Given the description of an element on the screen output the (x, y) to click on. 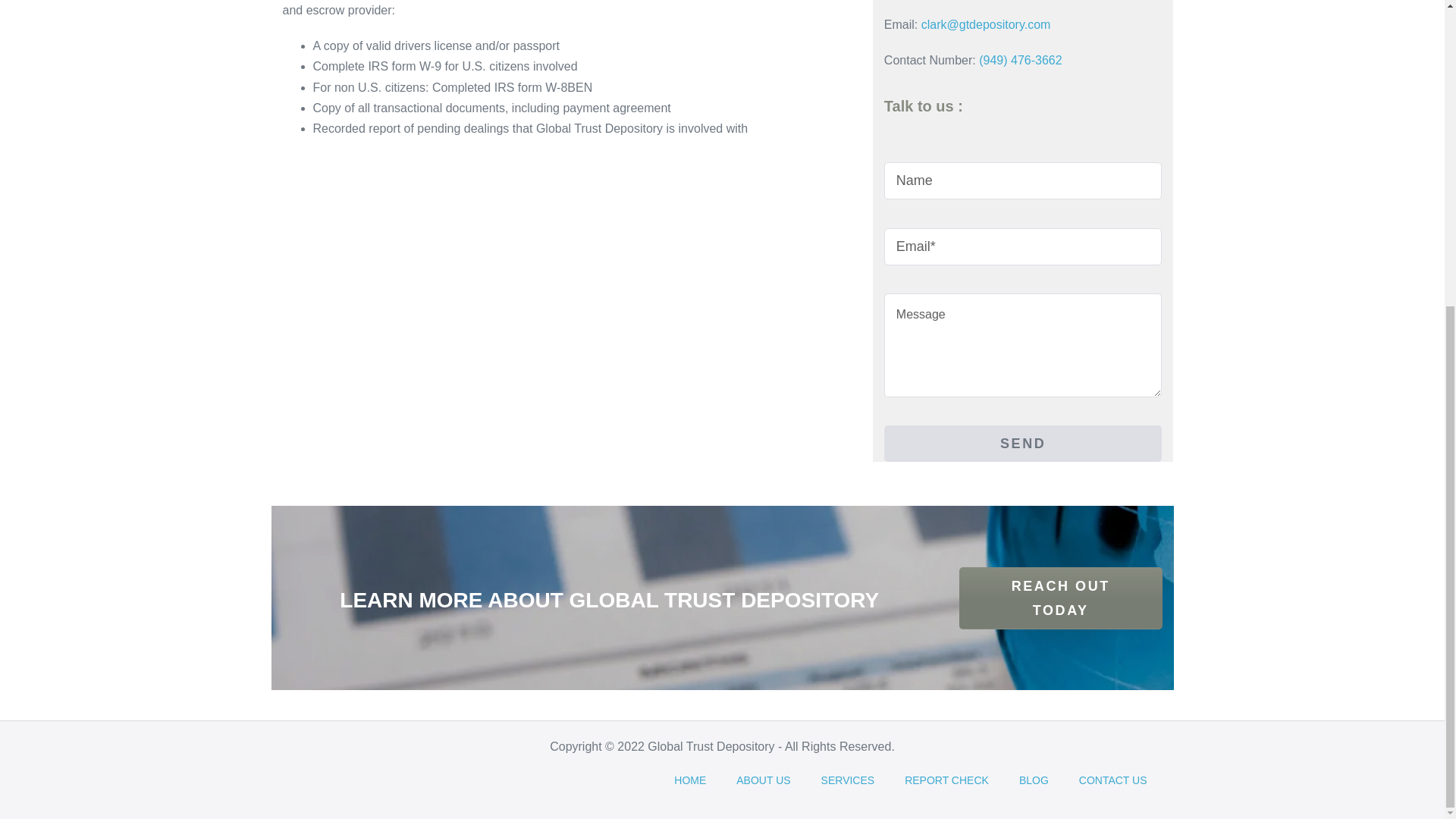
SERVICES (847, 780)
Send (1022, 443)
CONTACT US (1112, 780)
Send (1022, 443)
BLOG (1034, 780)
REACH OUT TODAY (1060, 598)
ABOUT US (762, 780)
HOME (689, 780)
REPORT CHECK (946, 780)
